Given the description of an element on the screen output the (x, y) to click on. 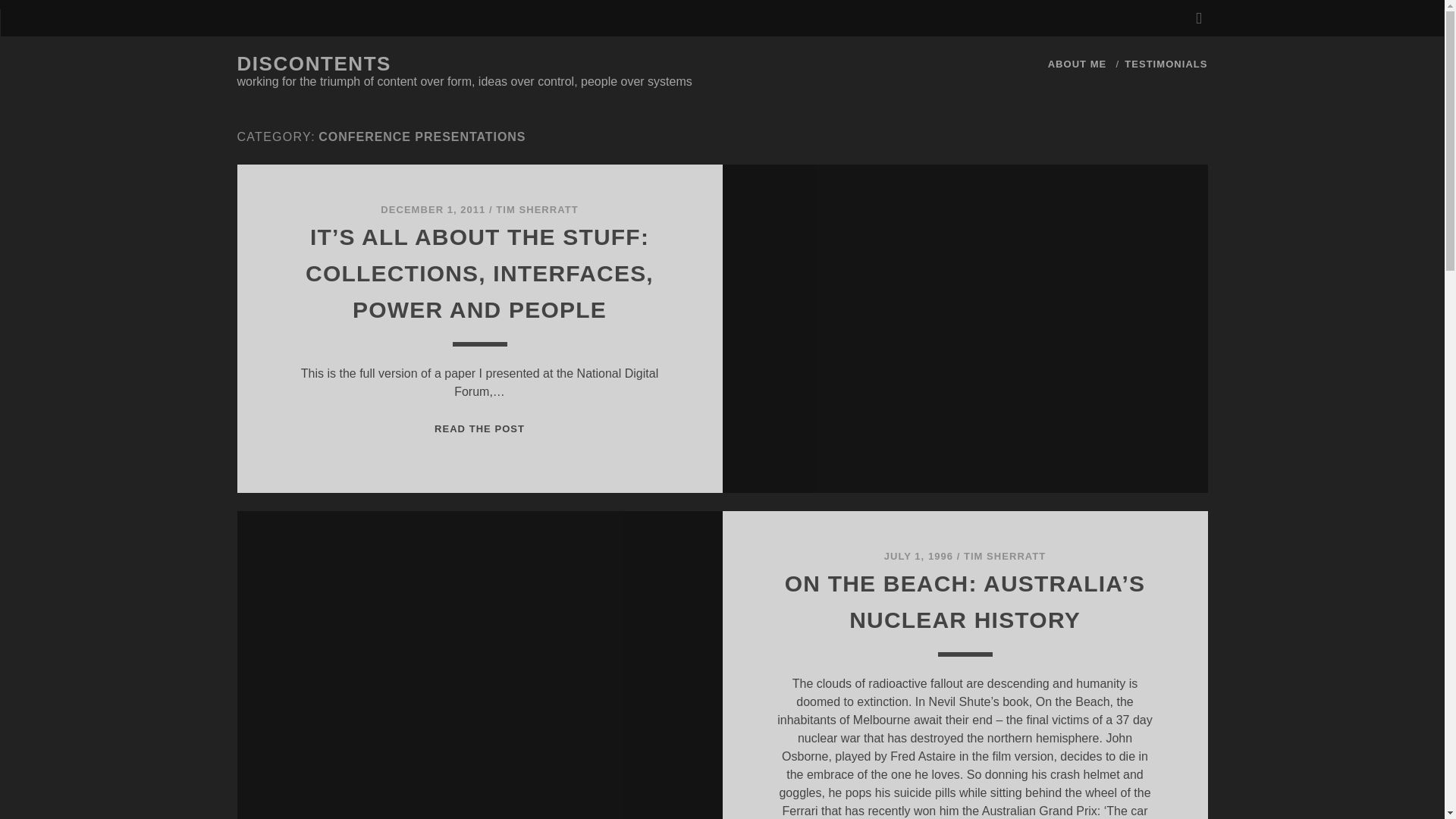
TIM SHERRATT (1004, 555)
Posts by Tim Sherratt (537, 209)
Posts by Tim Sherratt (1004, 555)
discontents (313, 63)
ABOUT ME (1077, 64)
TESTIMONIALS (1165, 64)
DISCONTENTS (313, 63)
TIM SHERRATT (537, 209)
